Given the description of an element on the screen output the (x, y) to click on. 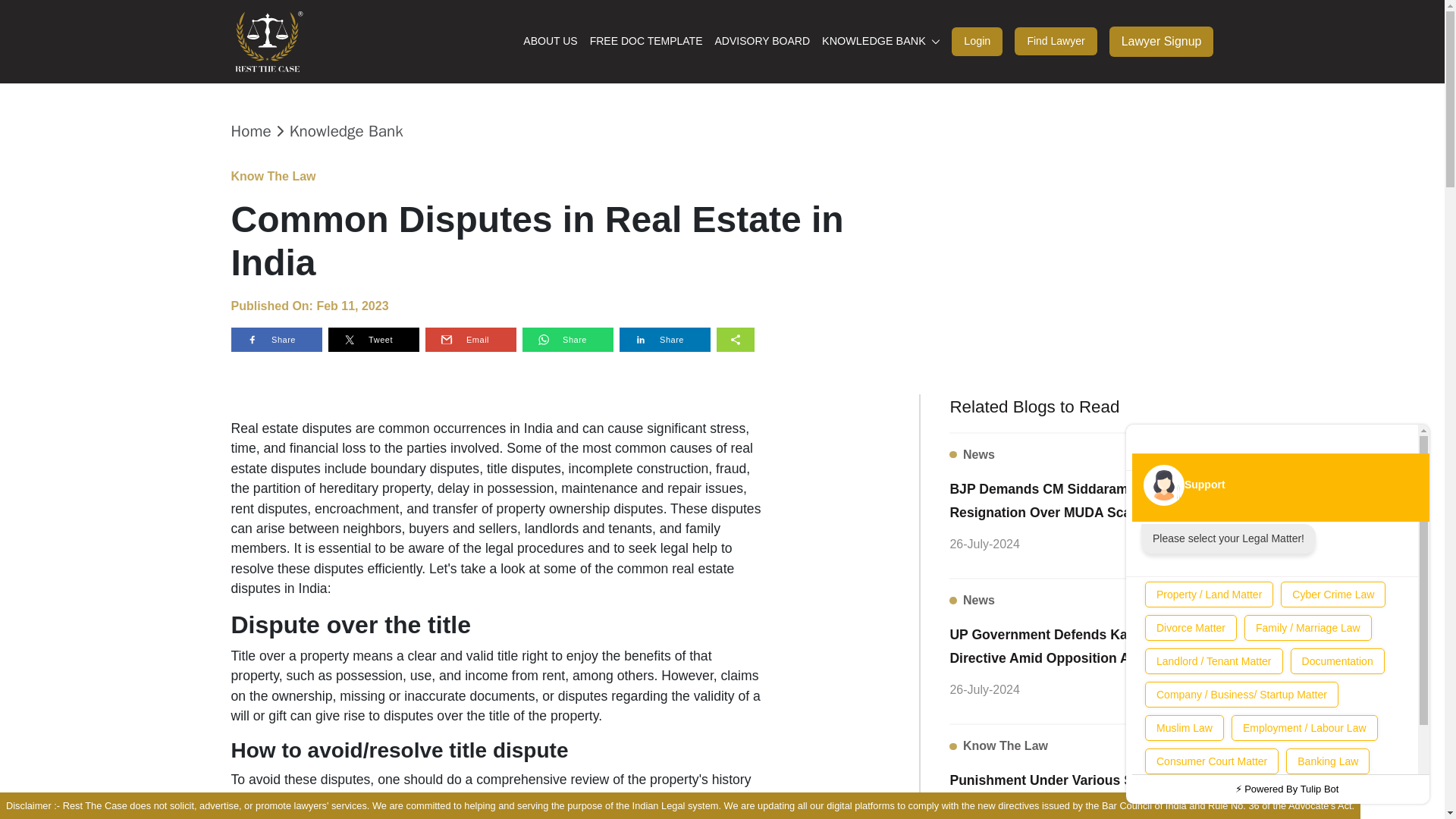
Home (250, 131)
Find Lawyer (1055, 41)
KNOWLEDGE BANK (880, 41)
Lawyer Signup (1161, 41)
Punishment Under Various Sections of IPC (1080, 790)
Login (977, 41)
FREE DOC TEMPLATE (646, 41)
Knowledge Bank (346, 131)
ABOUT US (549, 41)
ADVISORY BOARD (761, 41)
BJP Demands CM Siddaramaiah's Resignation Over MUDA Scam (1080, 499)
